Given the description of an element on the screen output the (x, y) to click on. 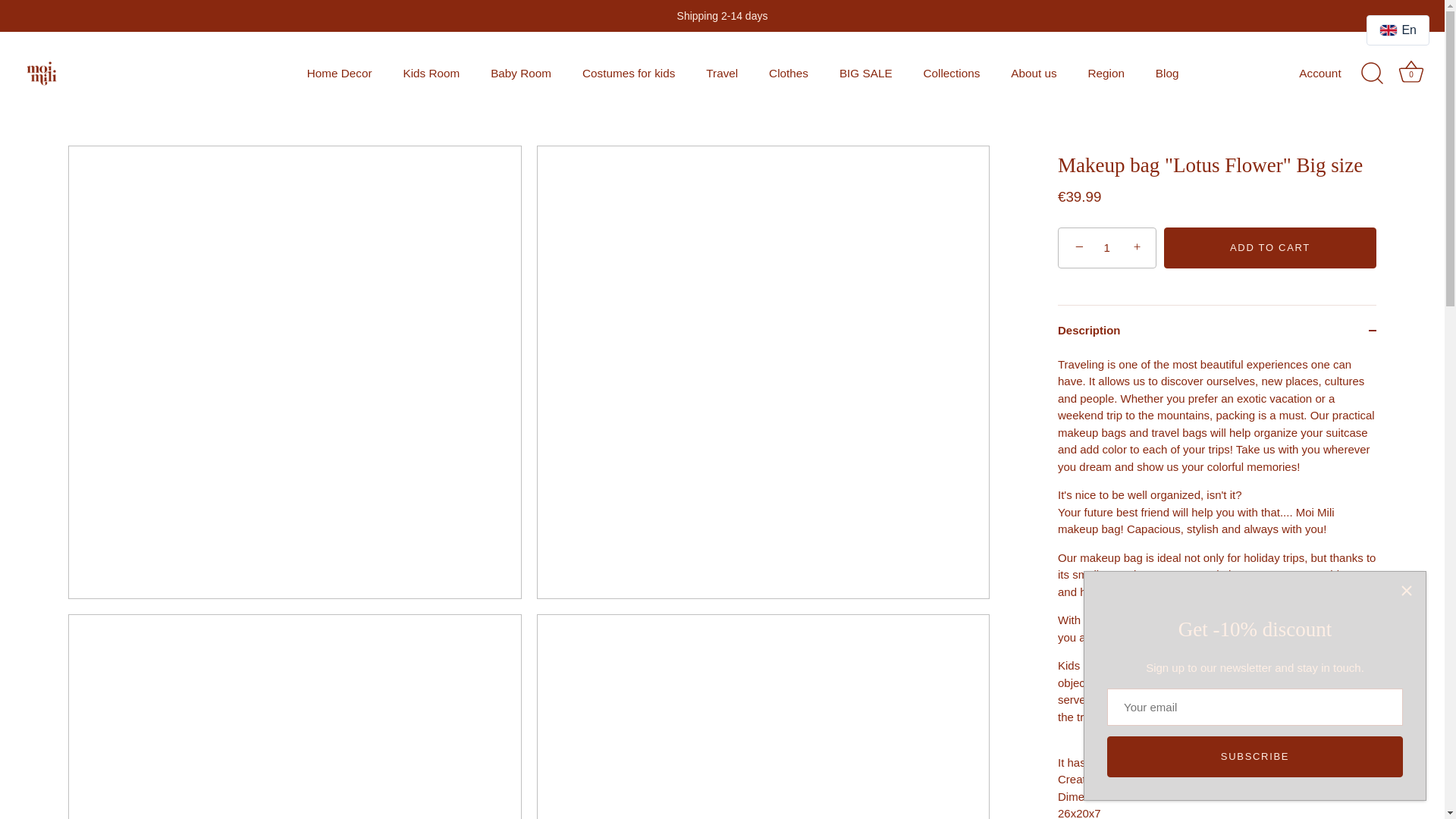
1 (1106, 248)
Kids Room (431, 72)
Home Decor (338, 72)
Basket (1410, 71)
